Given the description of an element on the screen output the (x, y) to click on. 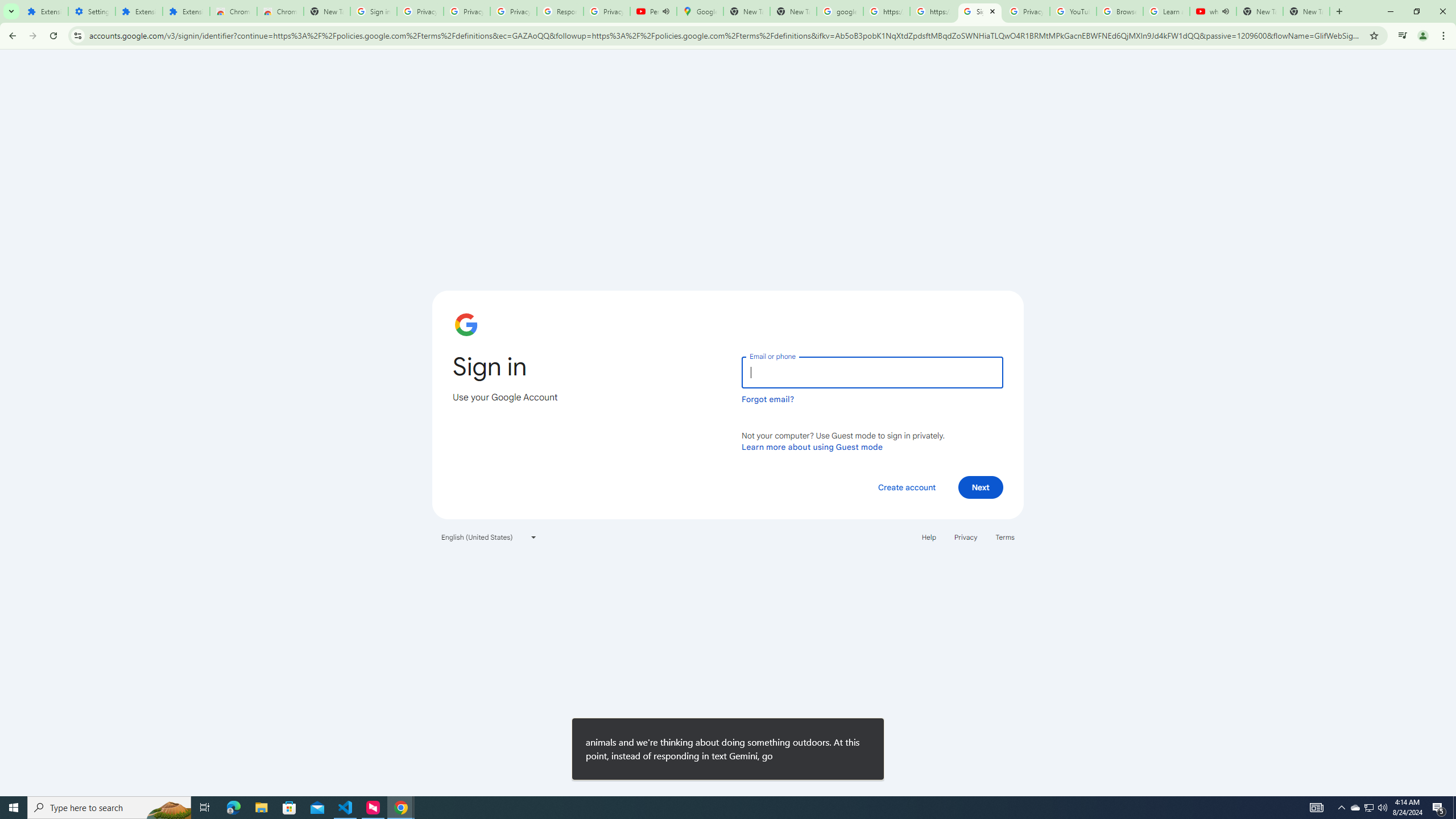
https://scholar.google.com/ (886, 11)
Terms (1005, 536)
Help (928, 536)
Sign in - Google Accounts (980, 11)
Extensions (138, 11)
Chrome Web Store (233, 11)
Personalized AI for you | Gemini - YouTube - Audio playing (652, 11)
